Given the description of an element on the screen output the (x, y) to click on. 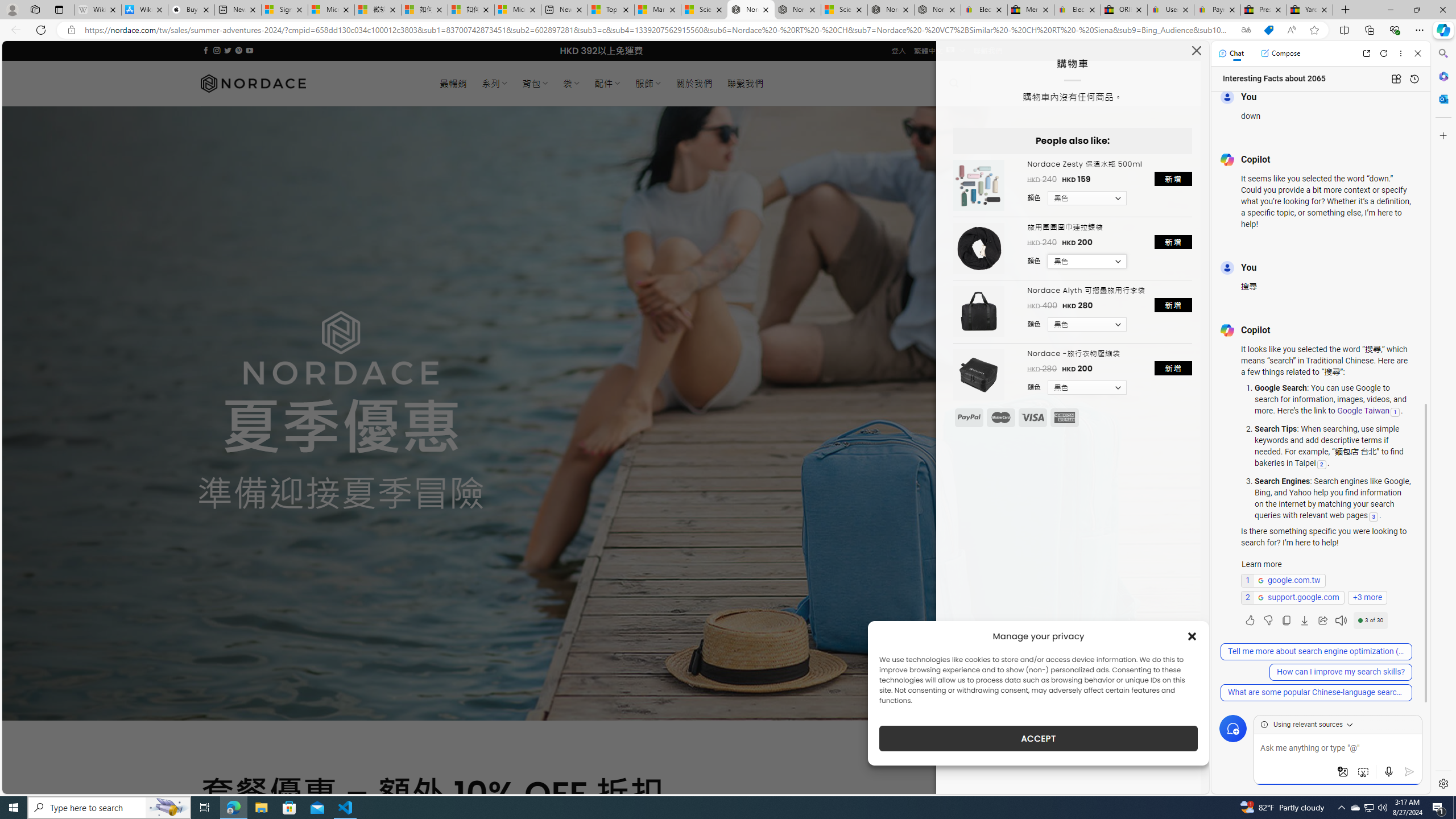
Open link in new tab (1366, 53)
Microsoft account | Account Checkup (517, 9)
Nordace (252, 83)
